Given the description of an element on the screen output the (x, y) to click on. 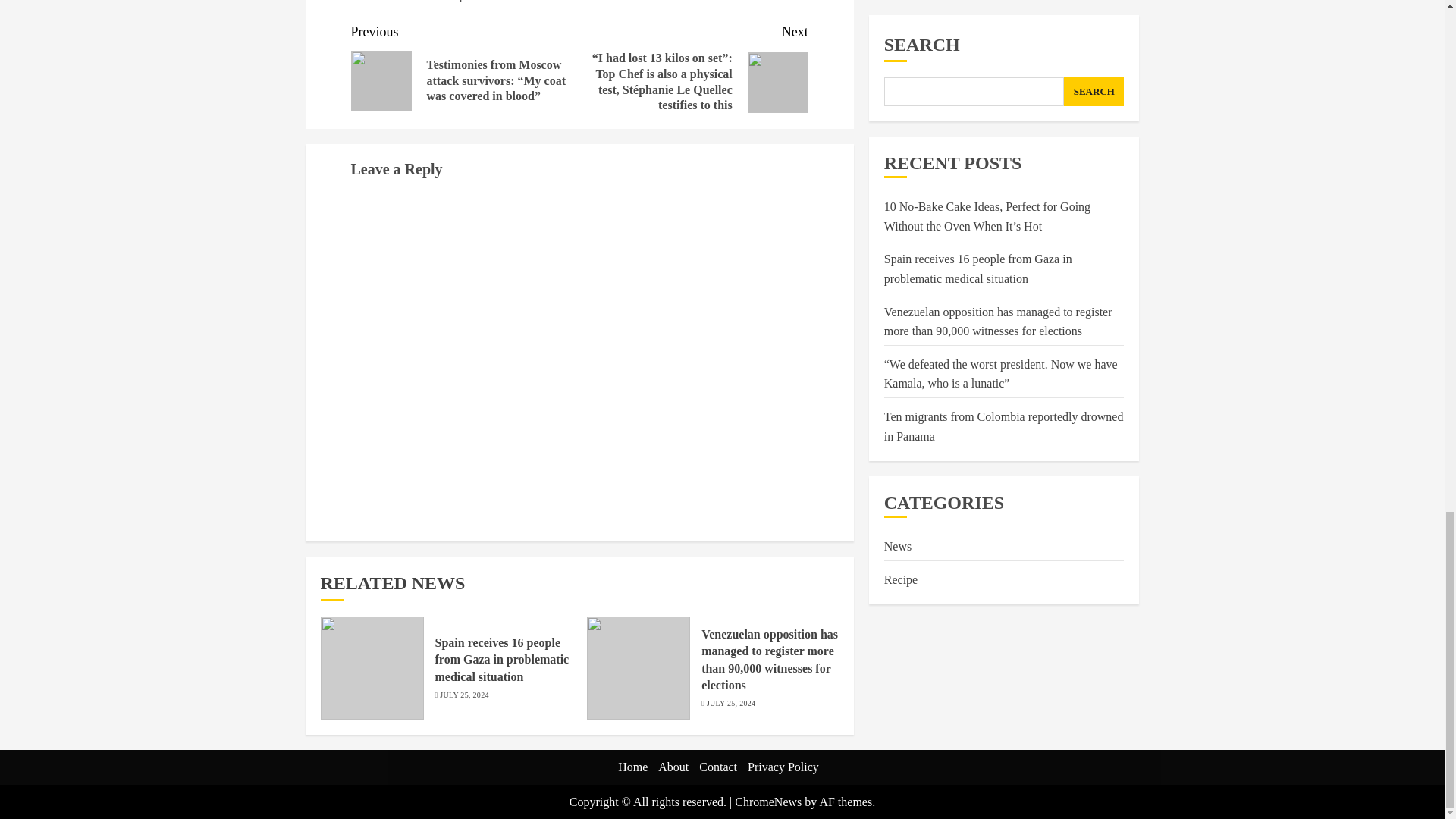
Contact (717, 766)
JULY 25, 2024 (730, 703)
Home (632, 766)
ChromeNews (768, 801)
About (673, 766)
Privacy Policy (783, 766)
JULY 25, 2024 (463, 695)
